Given the description of an element on the screen output the (x, y) to click on. 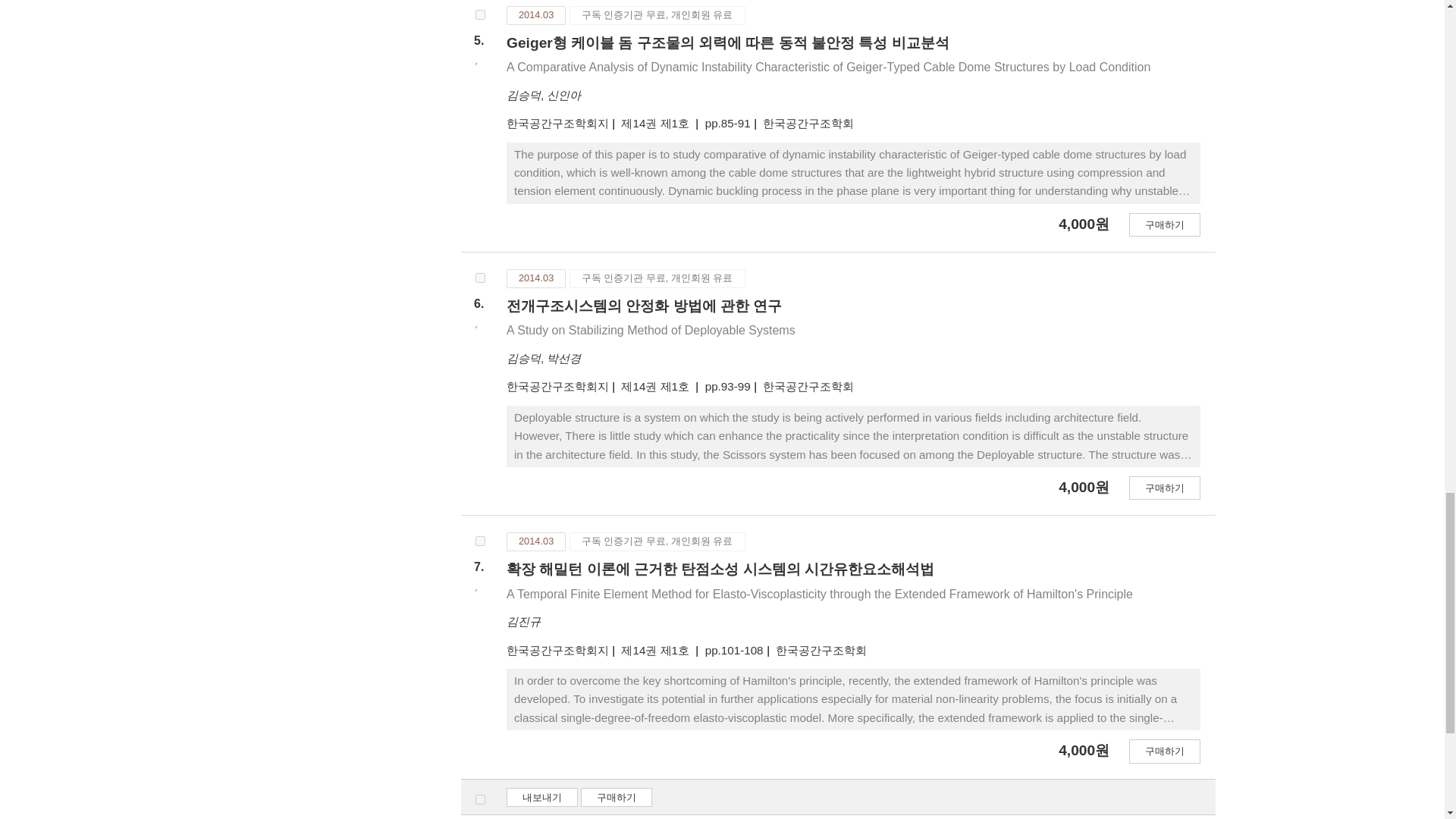
281657 (480, 277)
on (480, 799)
281658 (480, 541)
281656 (480, 14)
